Given the description of an element on the screen output the (x, y) to click on. 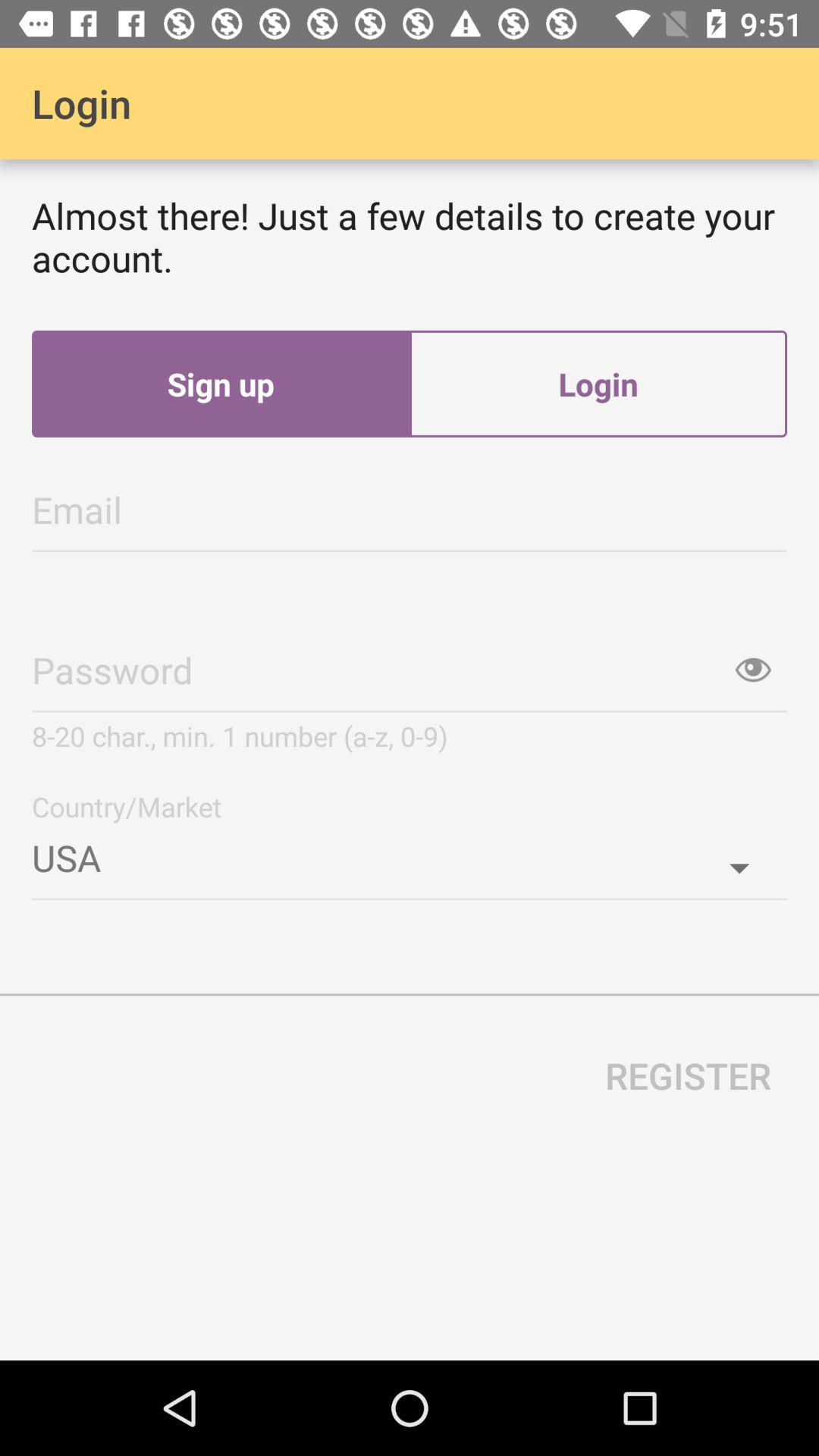
turn on item next to login icon (220, 383)
